Given the description of an element on the screen output the (x, y) to click on. 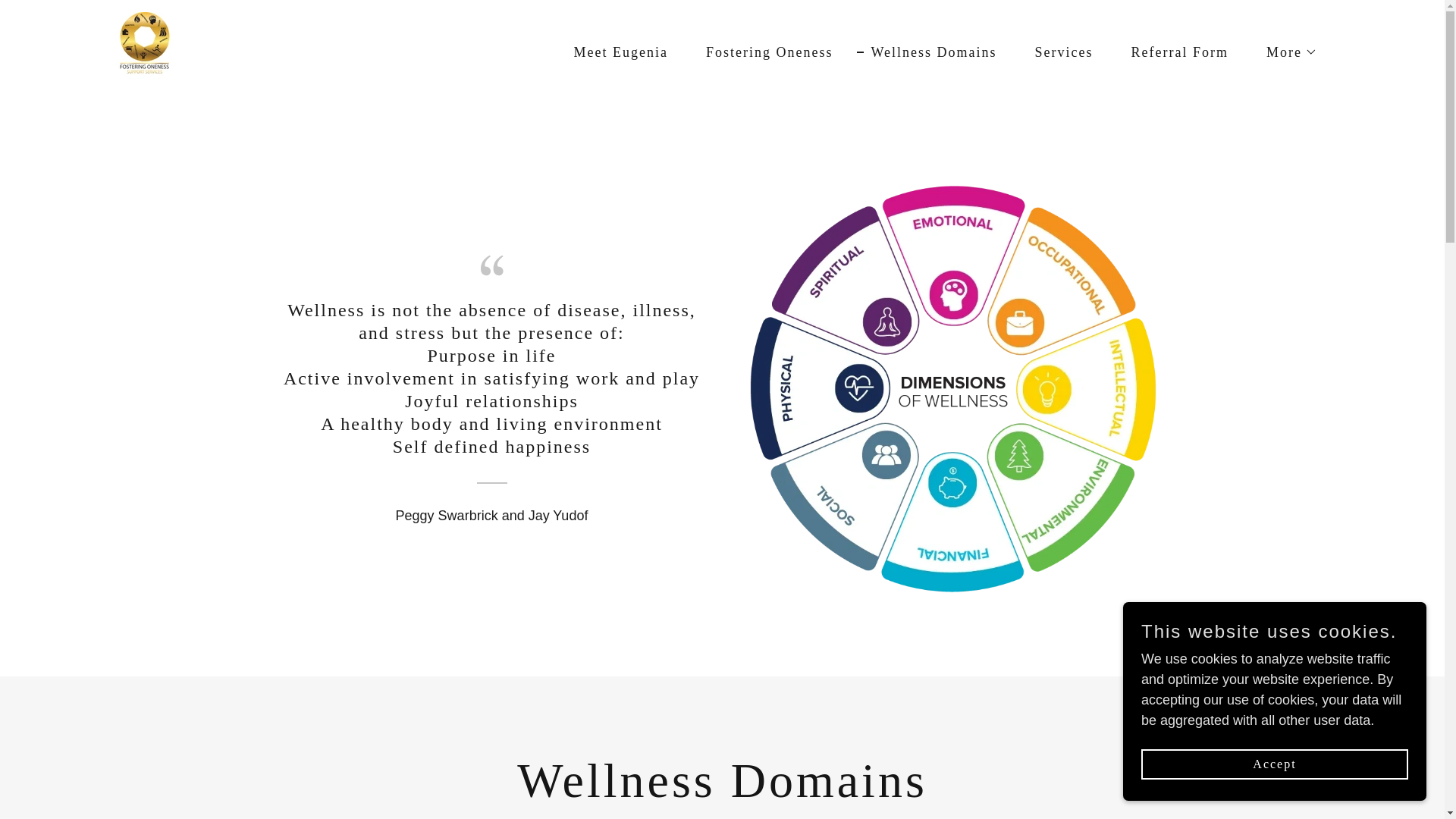
Accept (1274, 764)
Meet Eugenia (614, 51)
Fostering Oneness Support Services (144, 48)
Referral Form (1173, 51)
More (1284, 51)
Wellness Domains (926, 51)
Services (1056, 51)
Fostering Oneness (762, 51)
